Given the description of an element on the screen output the (x, y) to click on. 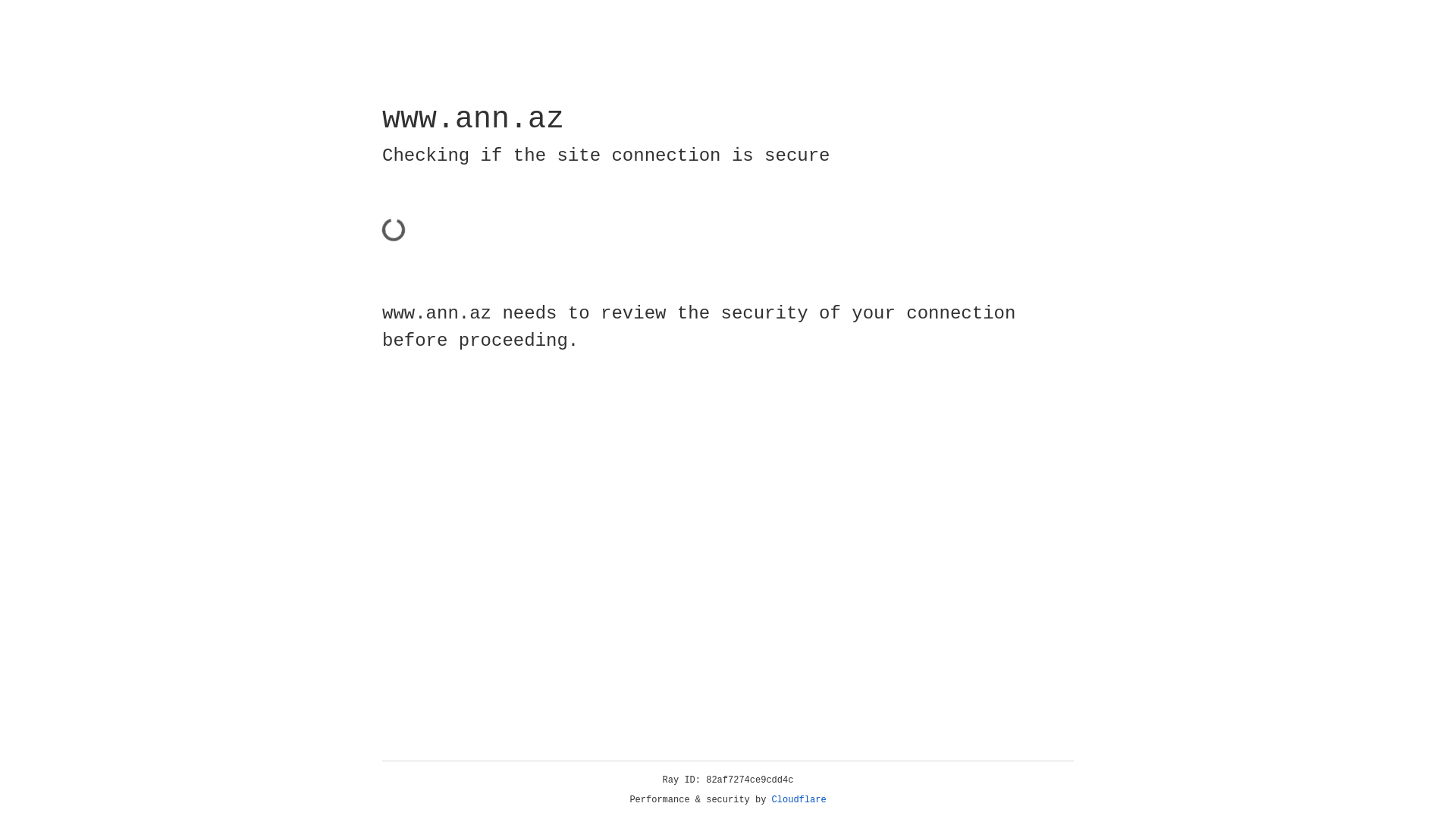
Cloudflare Element type: text (798, 799)
